Given the description of an element on the screen output the (x, y) to click on. 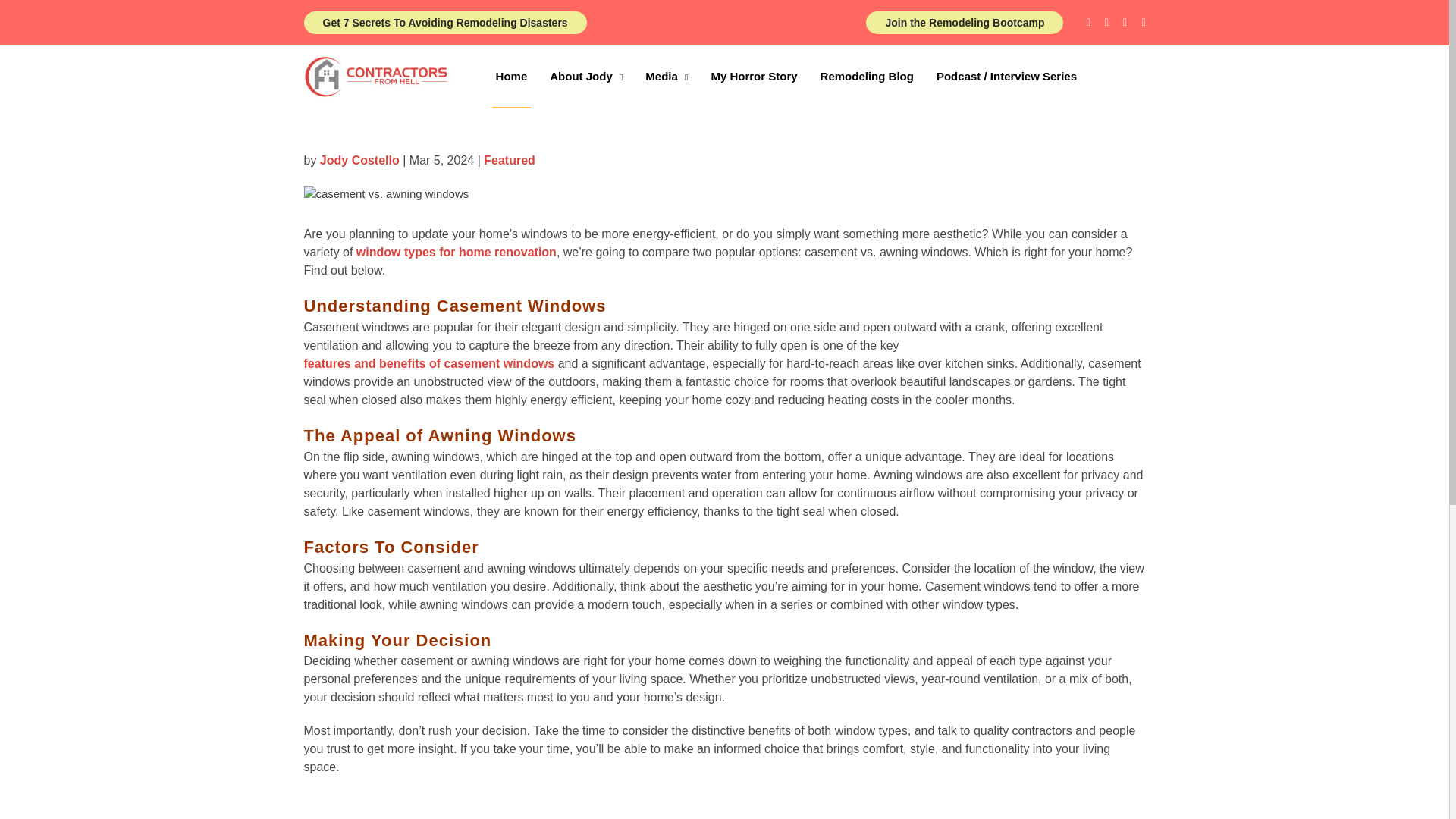
Media (666, 76)
Join the Remodeling Bootcamp (964, 22)
My Horror Story (753, 76)
Jody Costello (359, 160)
About Jody (586, 76)
Remodeling Blog (866, 76)
Get 7 Secrets To Avoiding Remodeling Disasters (444, 22)
Featured (509, 160)
Home (511, 76)
window types for home renovation (456, 252)
Posts by Jody Costello (359, 160)
features and benefits of casement windows (428, 363)
